Given the description of an element on the screen output the (x, y) to click on. 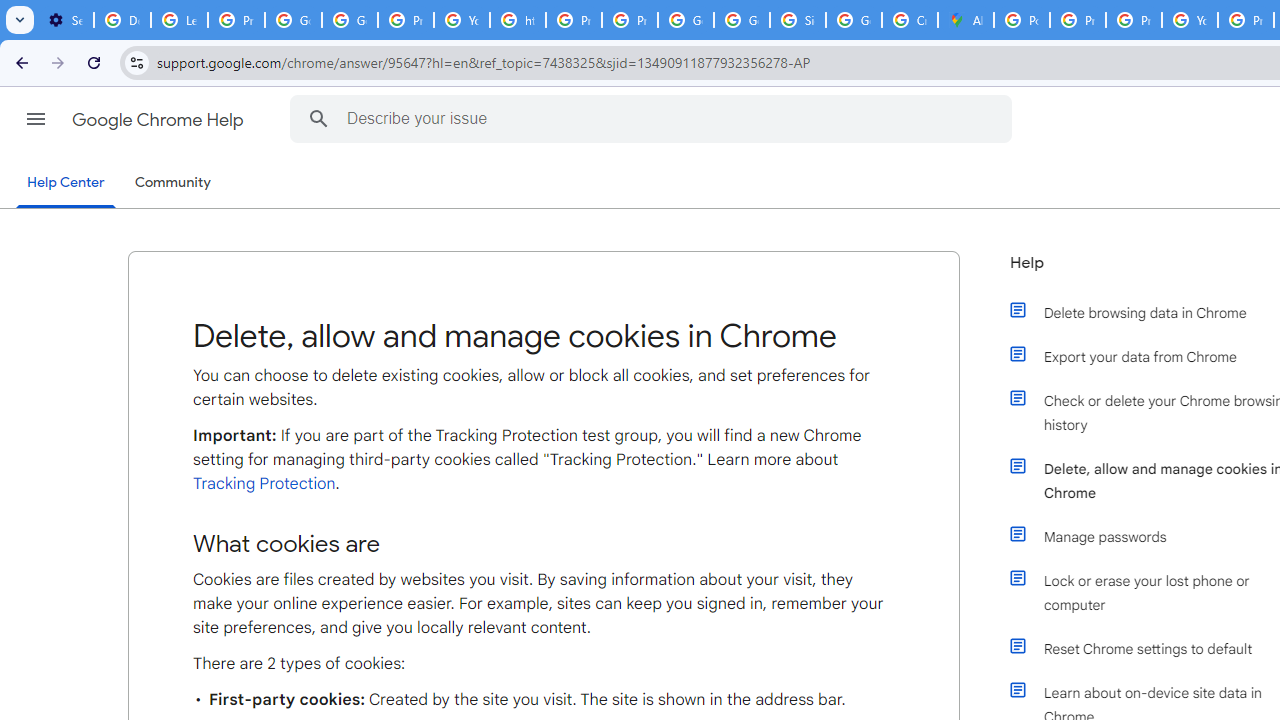
Settings - On startup (65, 20)
Privacy Help Center - Policies Help (1077, 20)
Tracking Protection (264, 483)
